Given the description of an element on the screen output the (x, y) to click on. 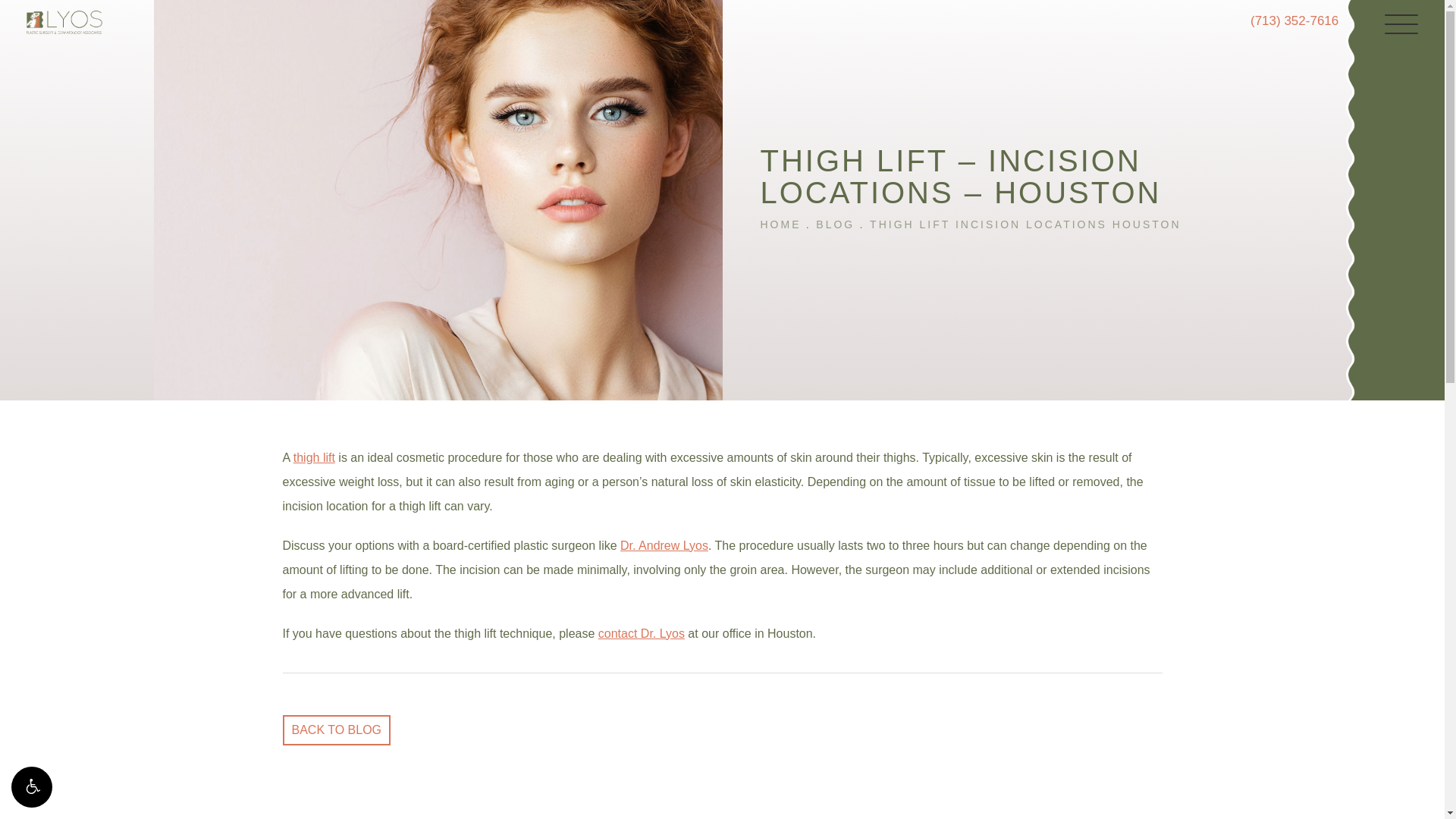
Dr Lyos (663, 545)
thigh lift (314, 457)
contact us (641, 633)
